Given the description of an element on the screen output the (x, y) to click on. 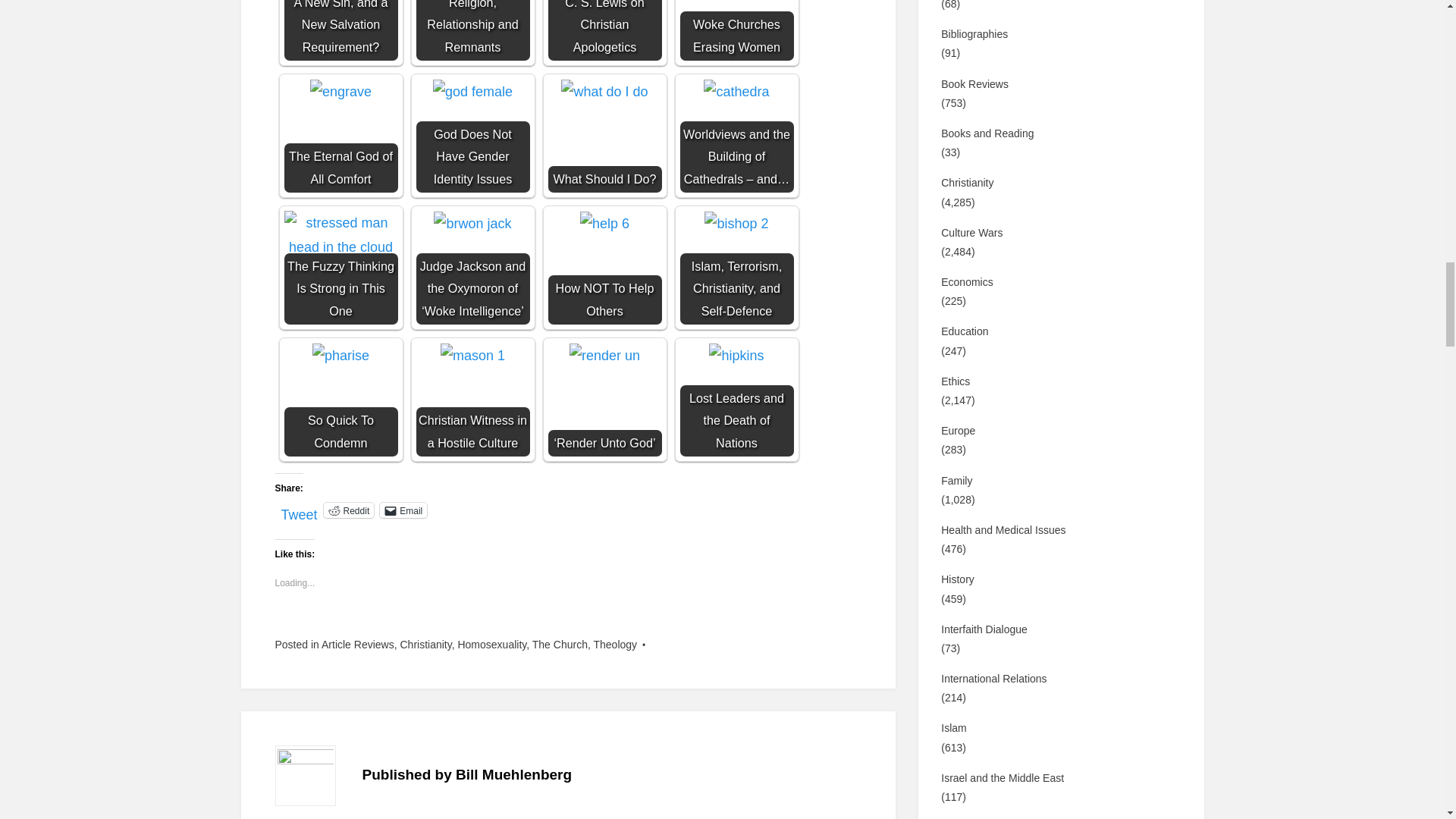
C. S. Lewis on Christian Apologetics (604, 30)
What Should I Do? (604, 135)
The Eternal God of All Comfort (340, 91)
Christianity (424, 644)
Lost Leaders and the Death of Nations (736, 399)
God Does Not Have Gender Identity Issues (472, 91)
Christian Witness in a Hostile Culture (471, 399)
How NOT To Help Others (604, 267)
Islam, Terrorism, Christianity, and Self-Defence (736, 267)
Article Reviews (357, 644)
God Does Not Have Gender Identity Issues (471, 135)
So Quick To Condemn (340, 399)
Email (403, 509)
What Should I Do? (603, 91)
Tweet (299, 509)
